Given the description of an element on the screen output the (x, y) to click on. 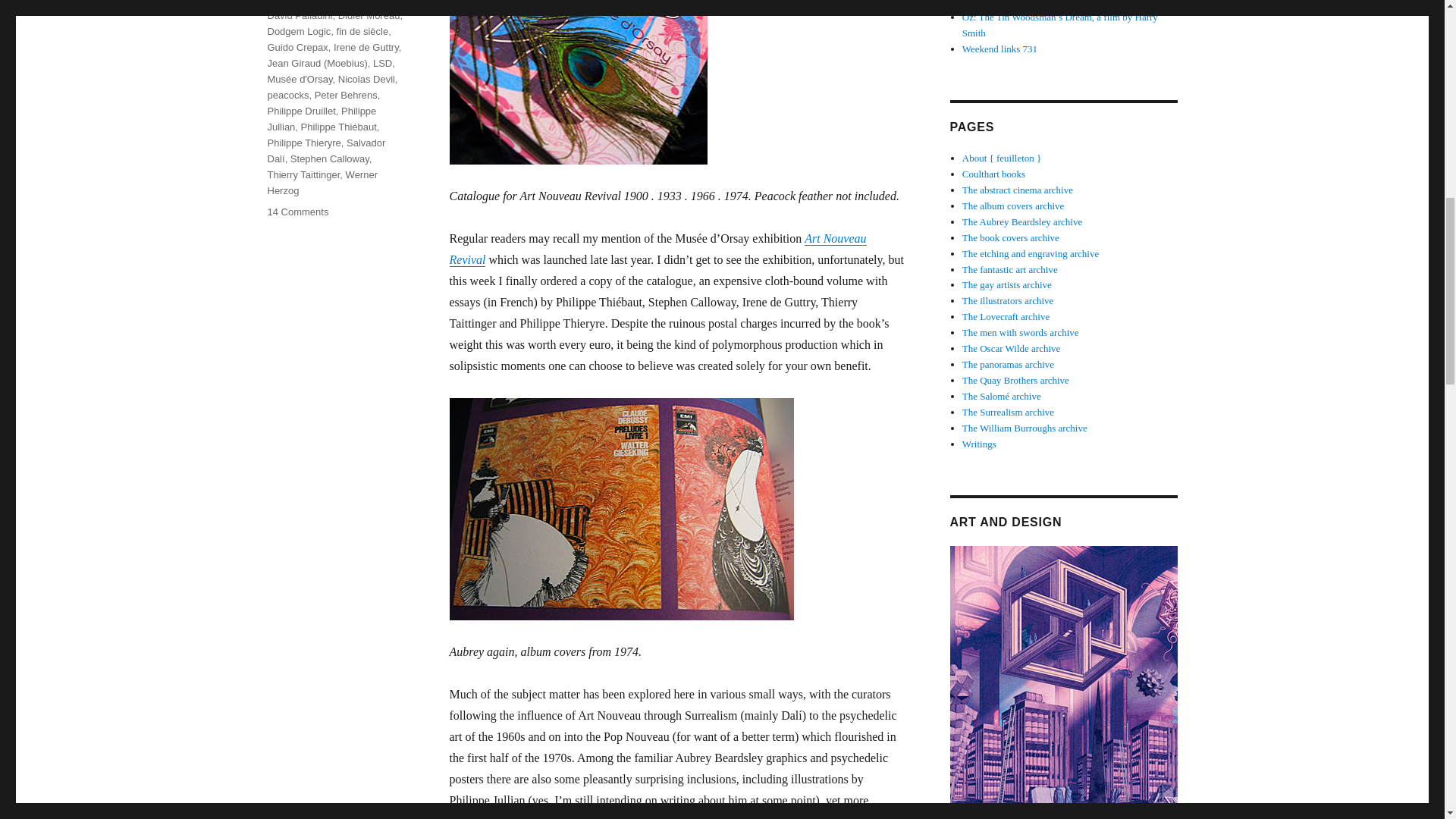
androgyny (289, 2)
Irene de Guttry (365, 47)
Didier Moreau (368, 15)
Art Nouveau Revival (657, 248)
Dodgem Logic (298, 30)
David Palladini (298, 15)
Guido Crepax (296, 47)
Aubrey Beardsley (355, 2)
